Given the description of an element on the screen output the (x, y) to click on. 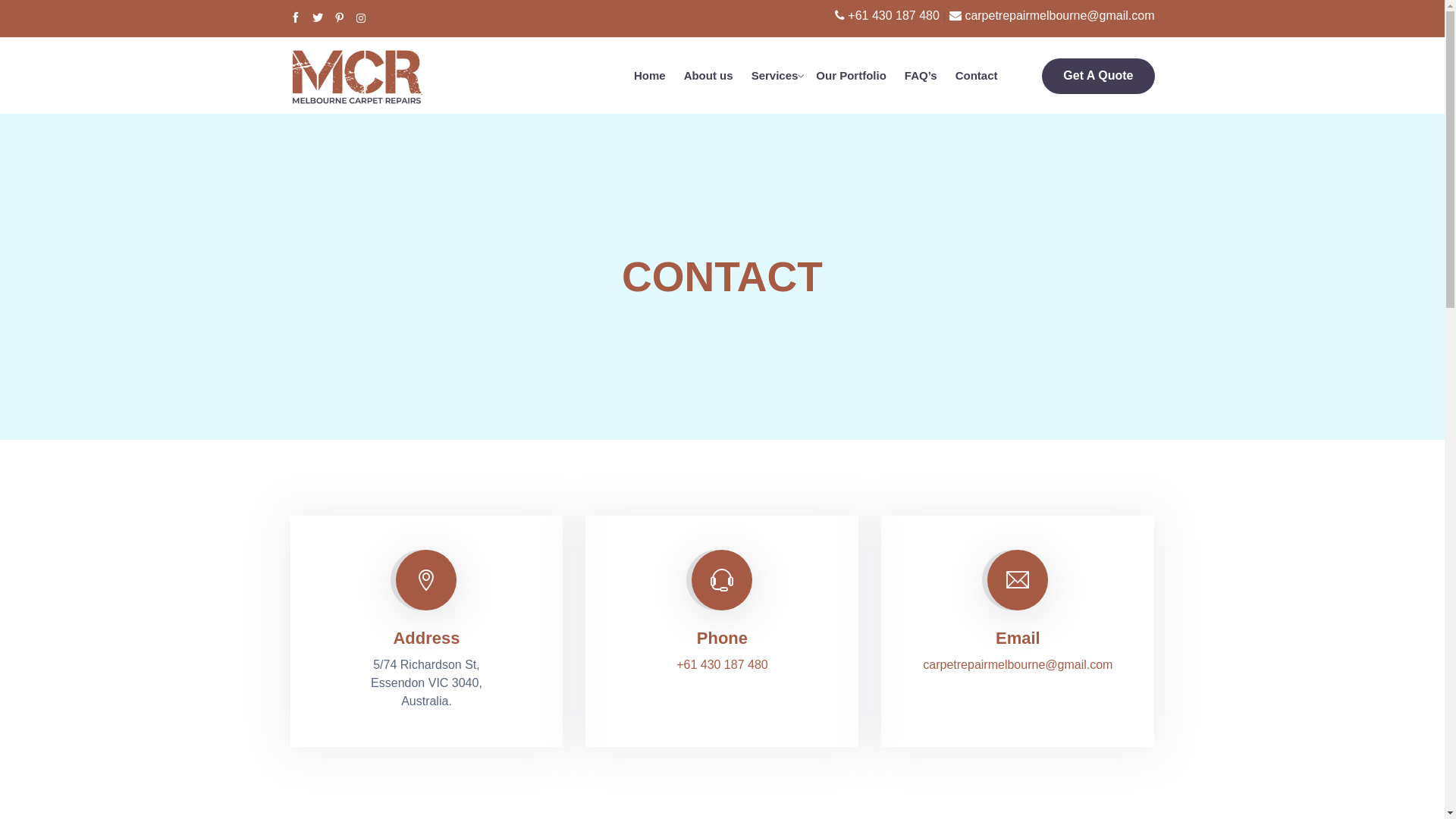
+61 430 187 480 Element type: text (722, 664)
+61 430 187 480 Element type: text (893, 15)
Get A Quote Element type: text (1097, 76)
carpetrepairmelbourne@gmail.com Element type: text (1017, 664)
Our Portfolio Element type: text (850, 75)
carpetrepairmelbourne@gmail.com Element type: text (1059, 15)
Services Element type: text (774, 75)
Home Element type: text (649, 75)
Contact Element type: text (976, 75)
About us Element type: text (708, 75)
